Given the description of an element on the screen output the (x, y) to click on. 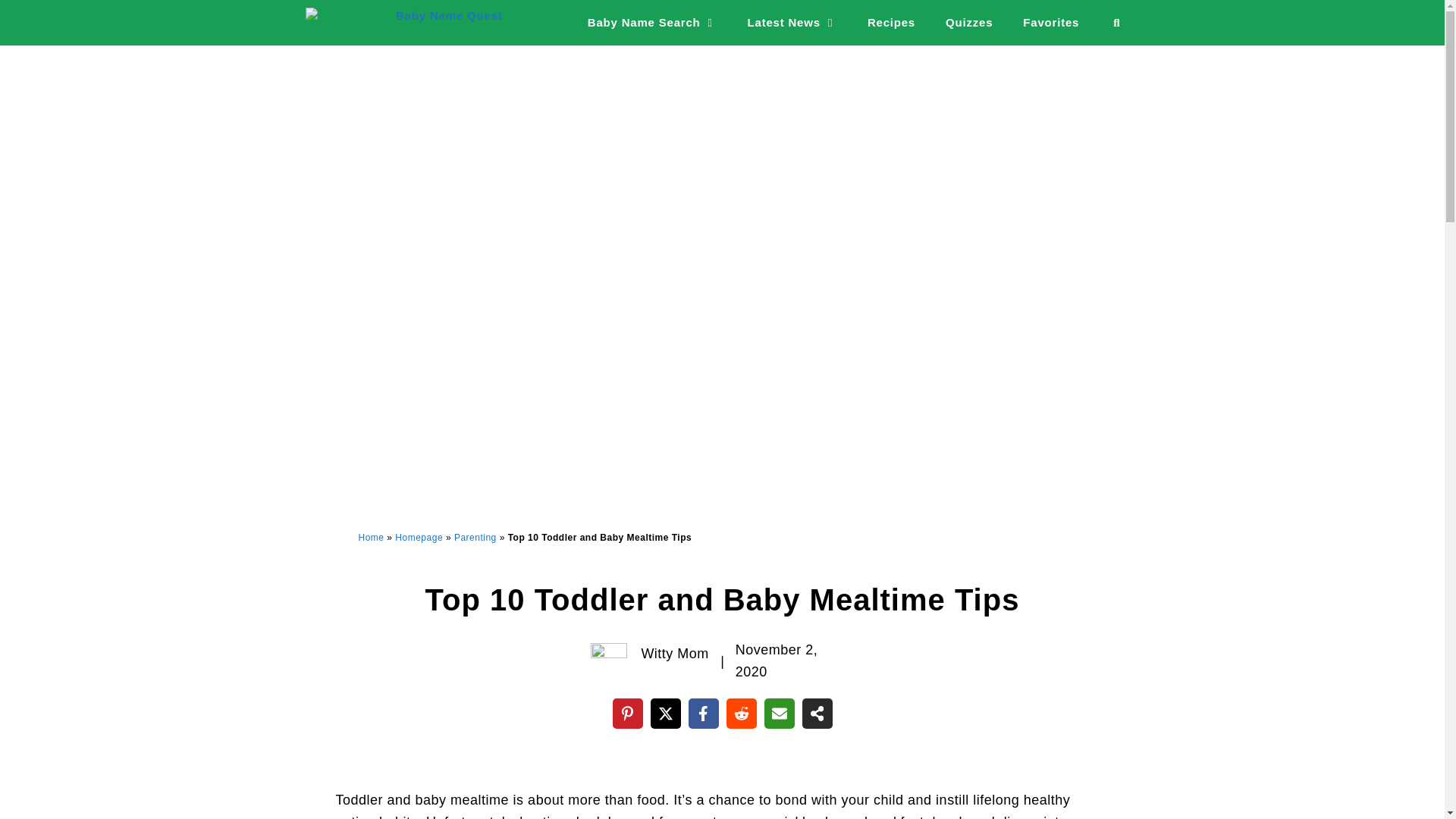
Baby Name Quest (403, 22)
Baby Name Quest (406, 22)
Favorites (1050, 22)
Quizzes (968, 22)
Home (371, 537)
Recipes (890, 22)
Baby Name Search (652, 22)
Latest News (791, 22)
